Given the description of an element on the screen output the (x, y) to click on. 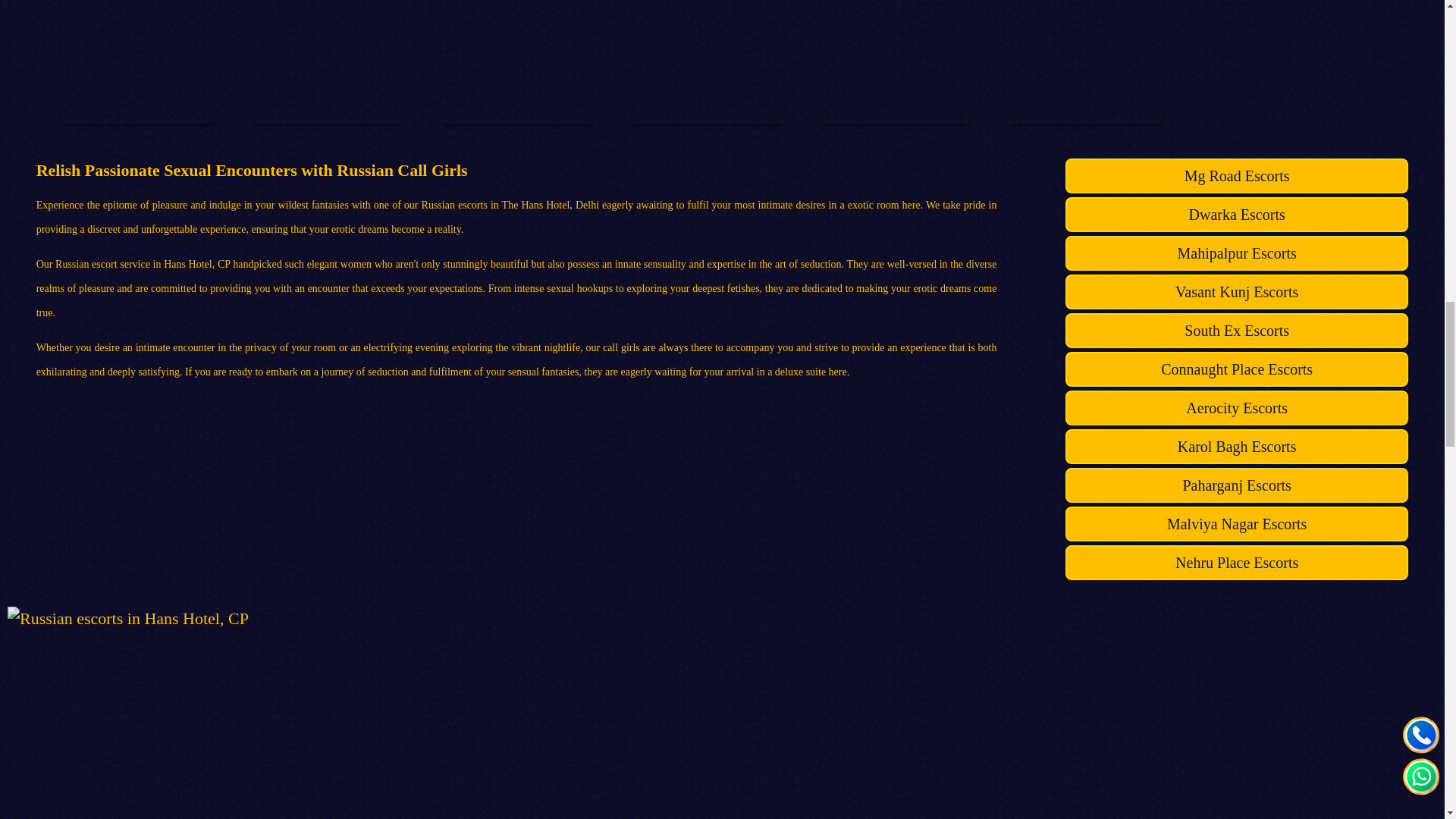
Dwarka Escorts (1236, 214)
Aerocity Escorts (1236, 407)
South Ex Escorts (1236, 330)
View (139, 9)
View (519, 9)
Mg Road Escorts (1236, 175)
Connaught Place Escorts (1236, 369)
Vasant Kunj Escorts (1236, 291)
Mahipalpur Escorts (1236, 253)
View (708, 9)
